Given the description of an element on the screen output the (x, y) to click on. 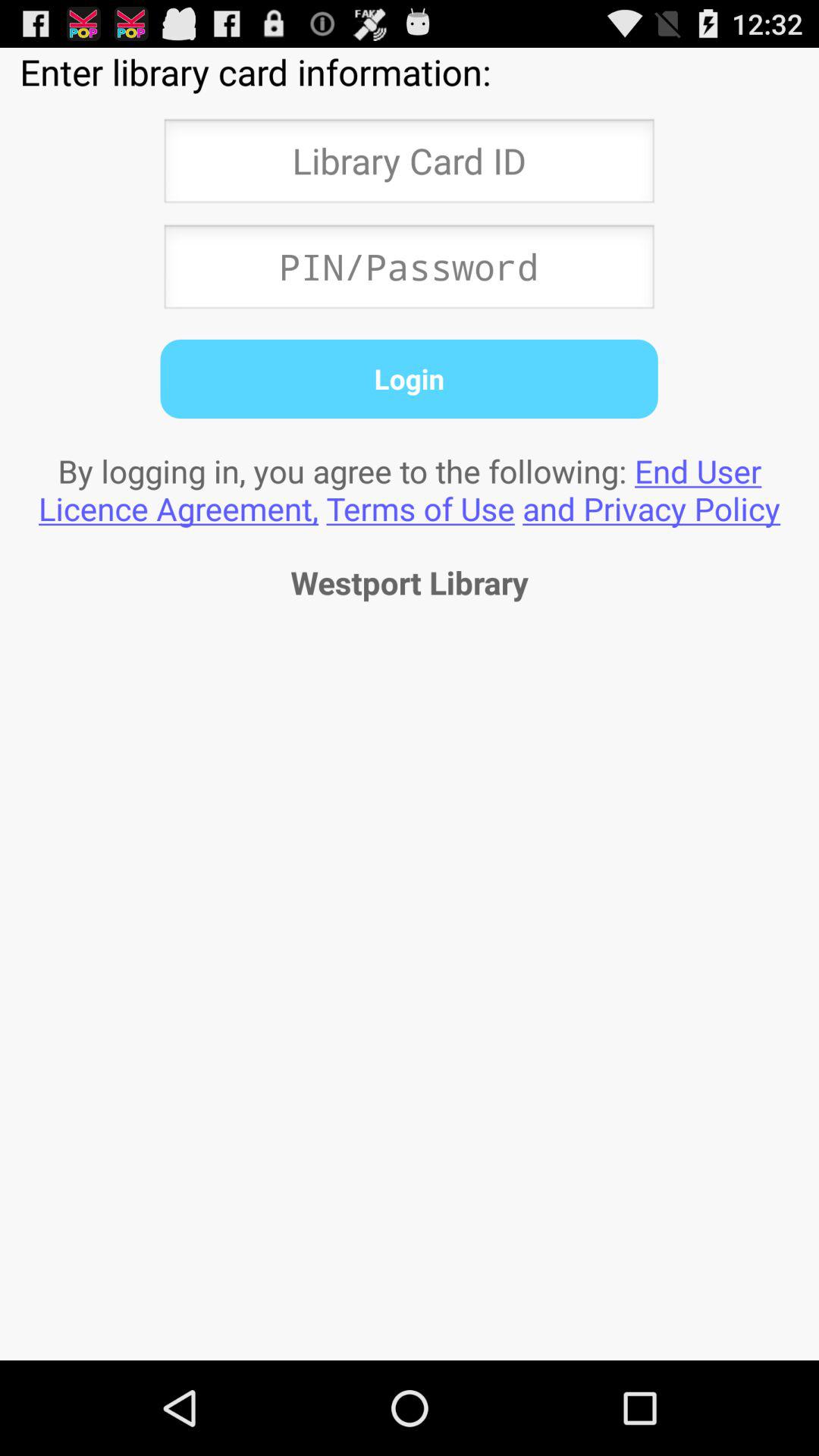
enter your library card id (409, 165)
